Given the description of an element on the screen output the (x, y) to click on. 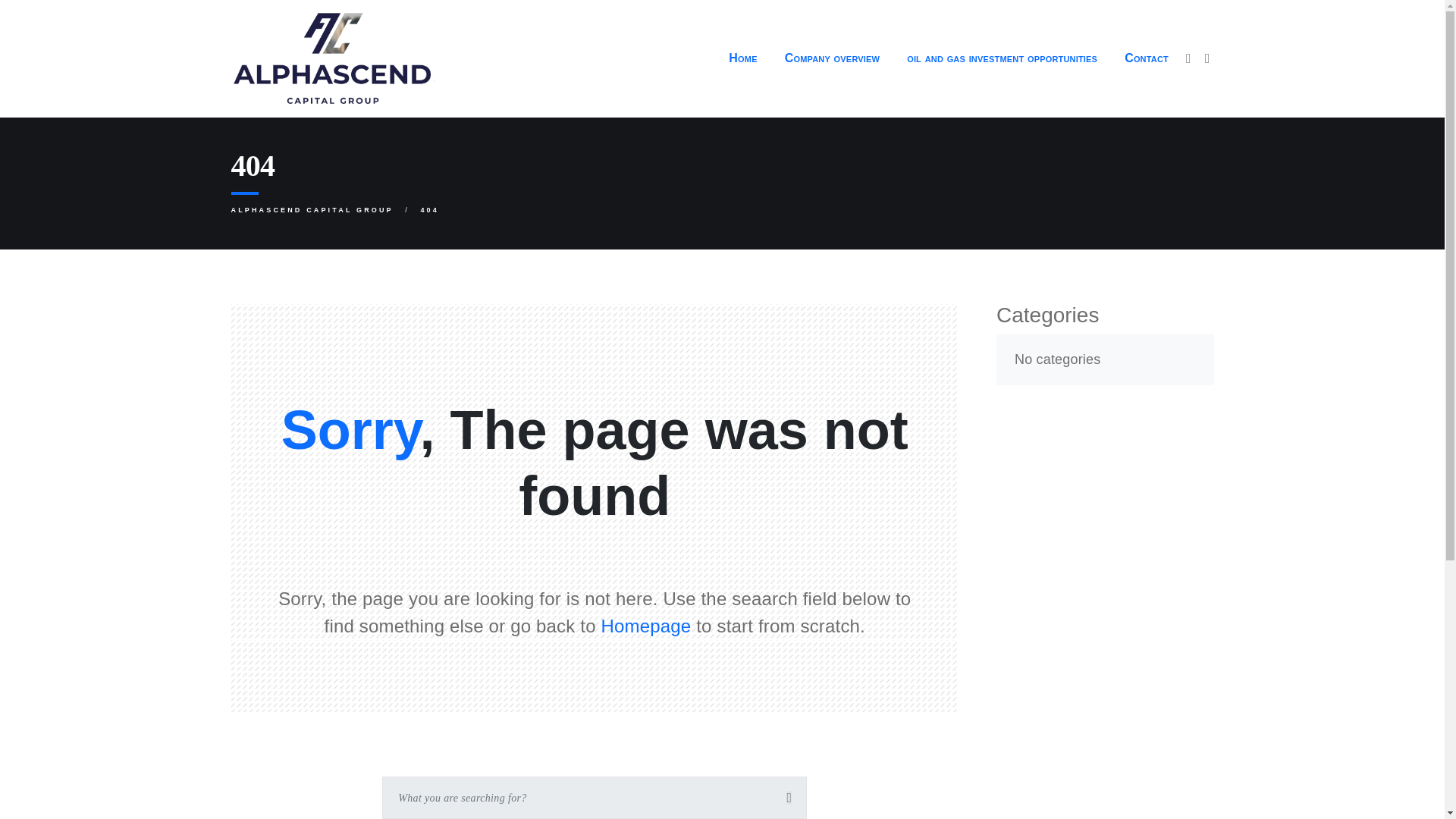
oil and gas investment opportunities (1001, 58)
Go to 404. (429, 209)
Company overview (832, 58)
Go to Alphascend Capital Group. (311, 209)
ALPHASCEND CAPITAL GROUP (311, 209)
404 (429, 209)
Contact (1146, 58)
Homepage (646, 625)
